Given the description of an element on the screen output the (x, y) to click on. 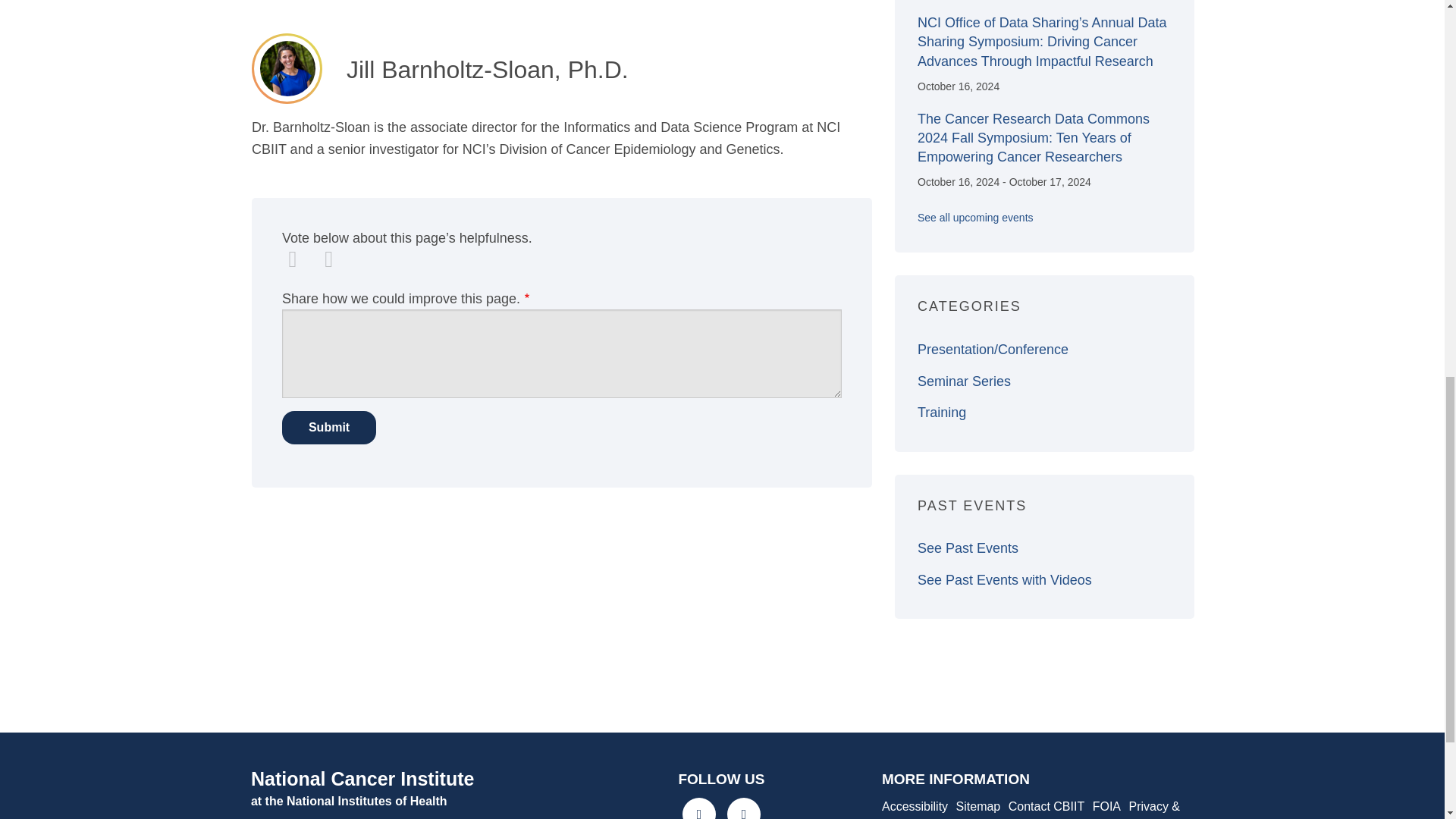
Submit (328, 427)
